Given the description of an element on the screen output the (x, y) to click on. 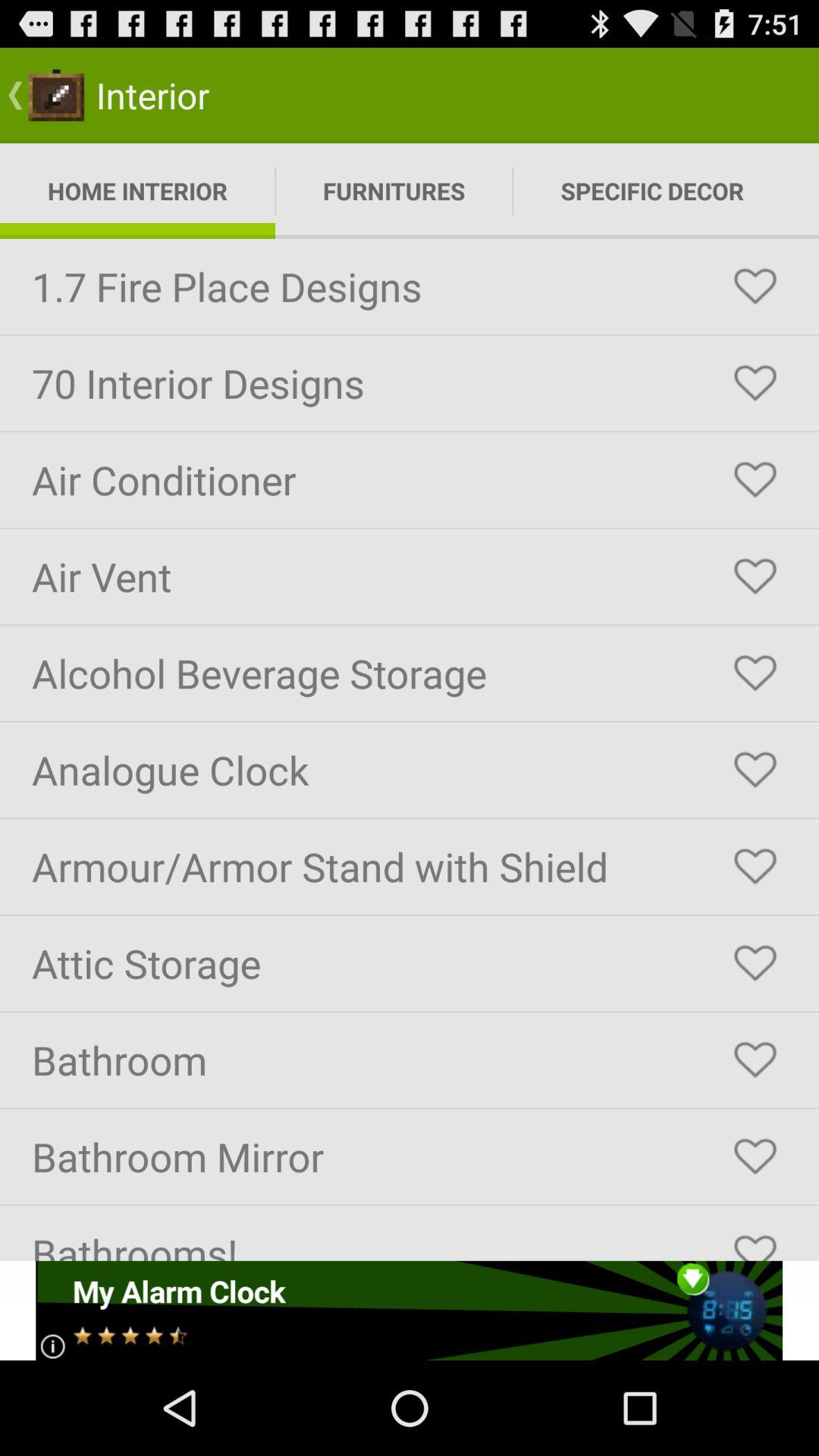
add to favorite (755, 1156)
